Given the description of an element on the screen output the (x, y) to click on. 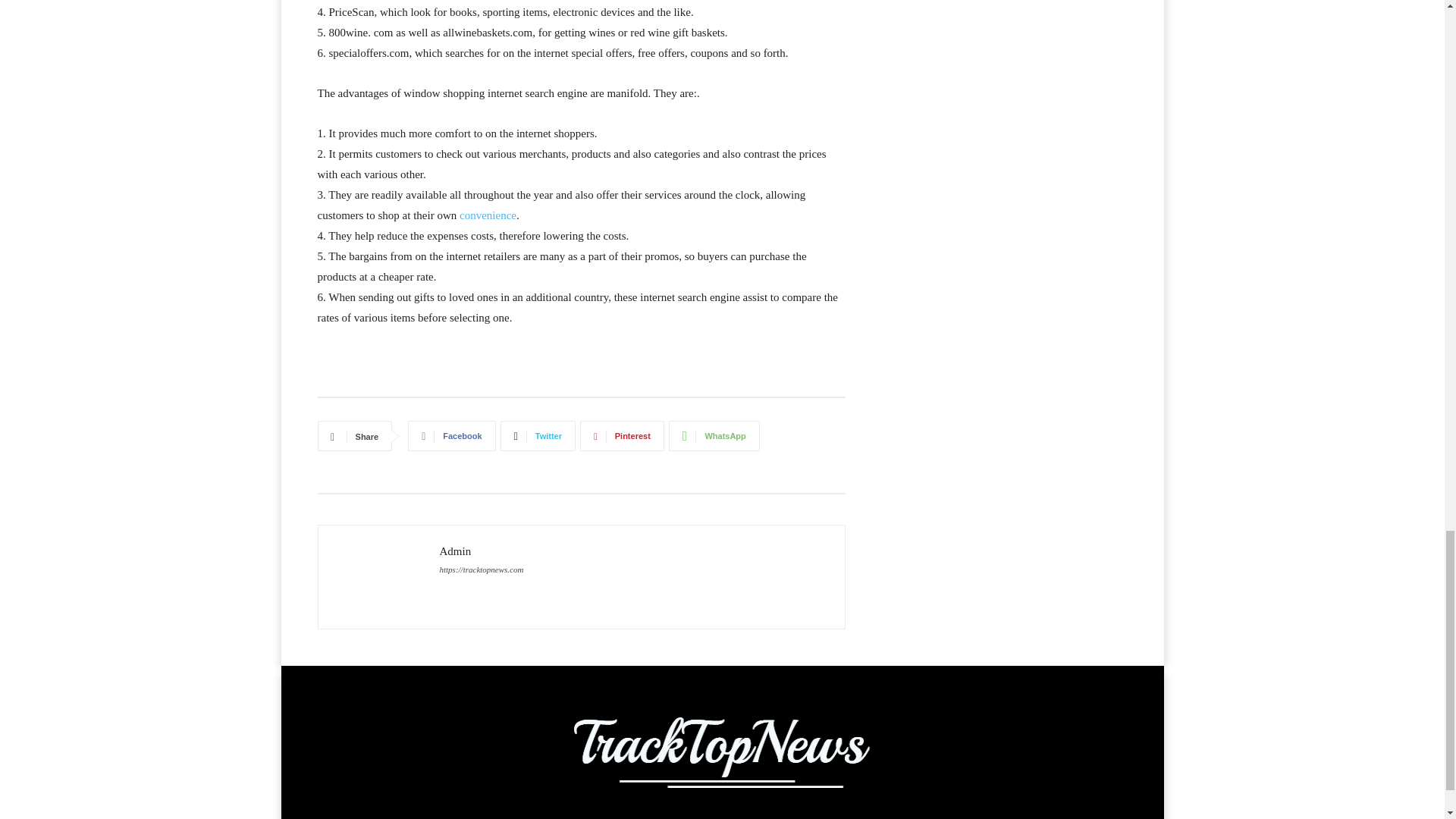
Facebook (451, 435)
